Given the description of an element on the screen output the (x, y) to click on. 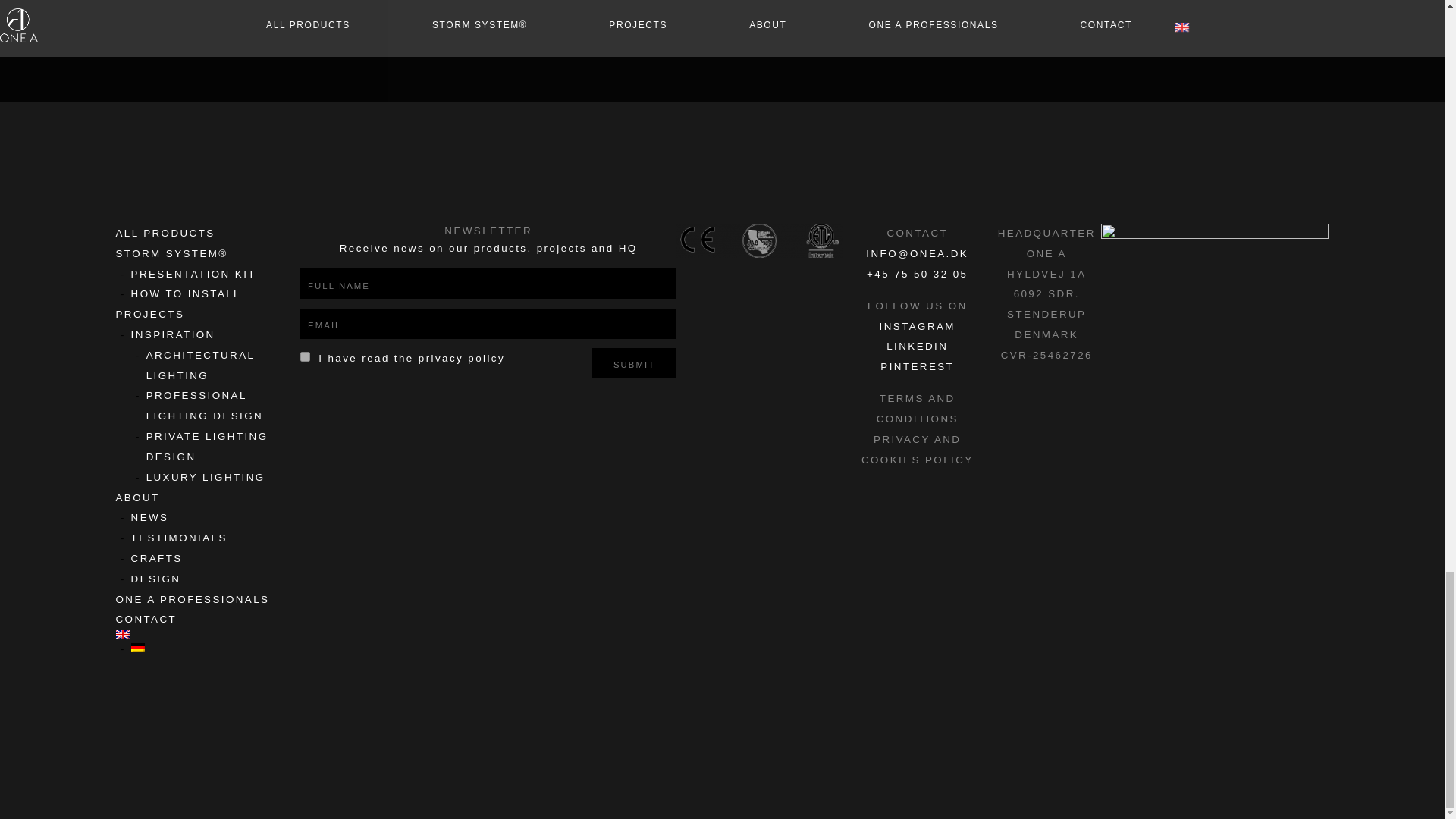
LUXURY LIGHTING (205, 477)
ALL PRODUCTS (164, 233)
NEWS (149, 517)
on (304, 356)
HOW TO INSTALL (186, 293)
PROJECTS (149, 314)
PRIVATE LIGHTING DESIGN (207, 446)
ARCHITECTURAL LIGHTING (200, 365)
ABOUT (136, 497)
DESIGN (155, 578)
